Given the description of an element on the screen output the (x, y) to click on. 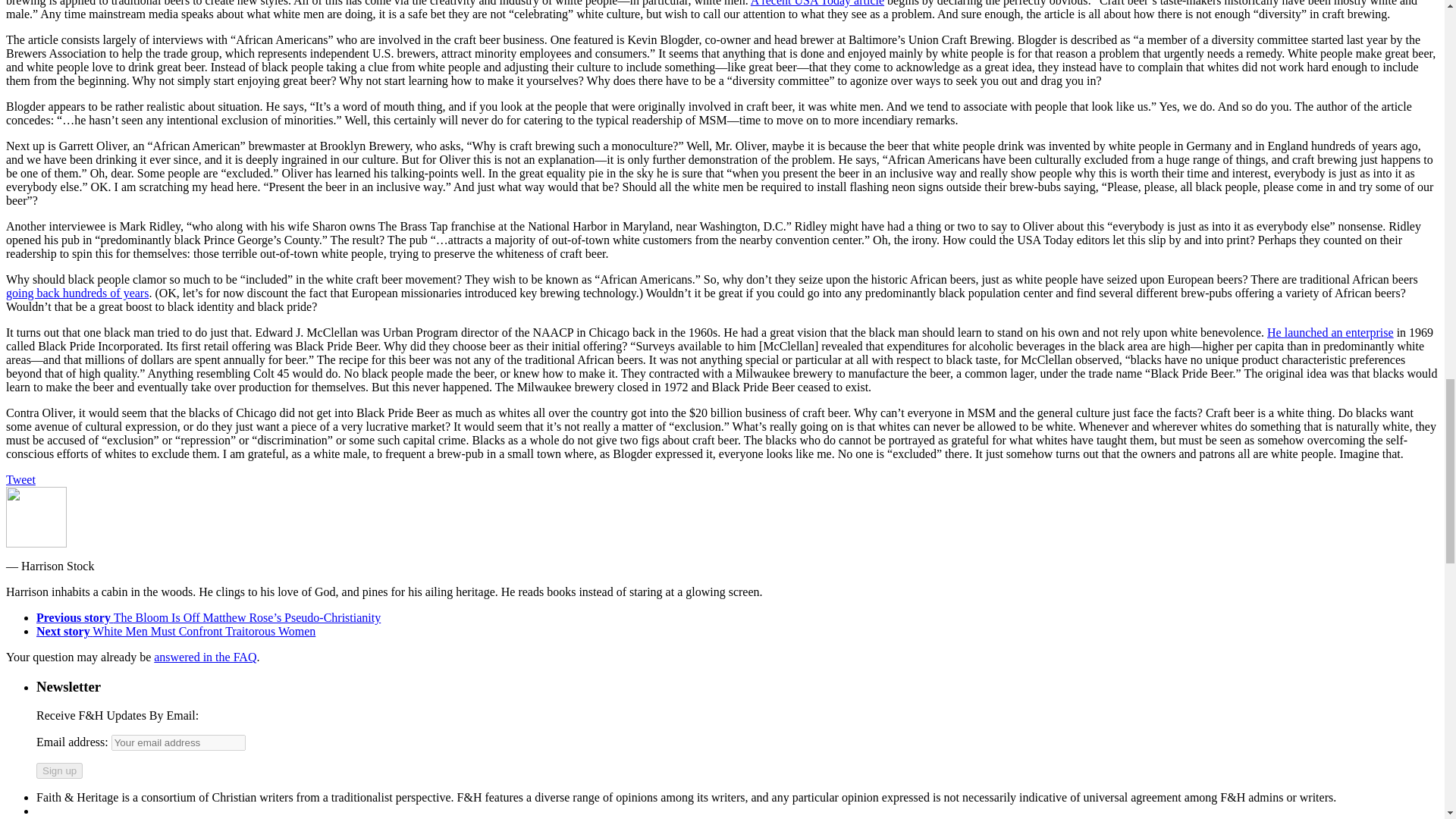
Sign up (59, 770)
